Given the description of an element on the screen output the (x, y) to click on. 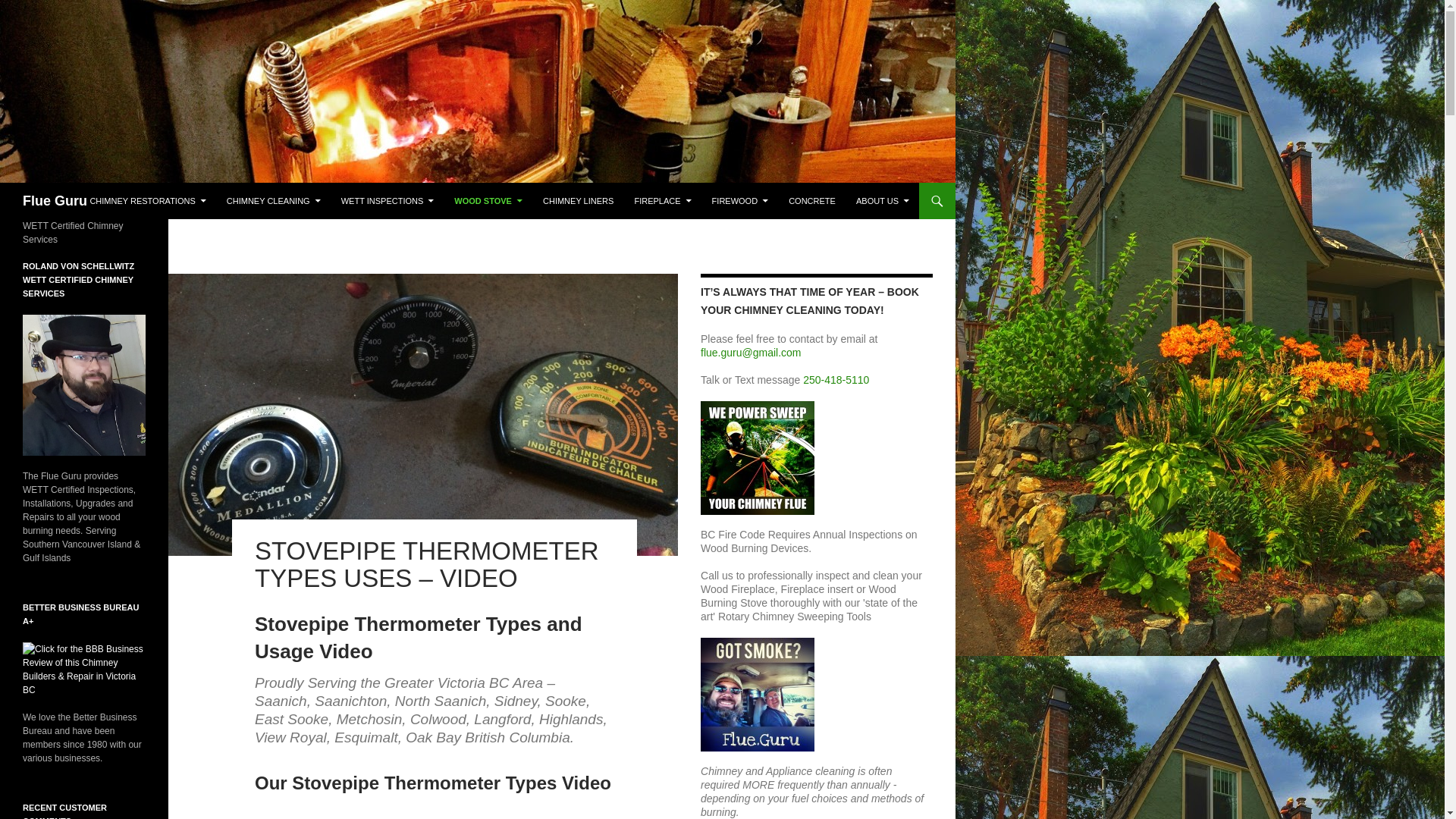
Flue Guru (55, 200)
CONCRETE (811, 200)
CHIMNEY CLEANING (273, 200)
CHIMNEY RESTORATIONS (147, 200)
FIREPLACE (662, 200)
WOOD STOVE (488, 200)
CHIMNEY LINERS (578, 200)
WETT INSPECTIONS (387, 200)
